Given the description of an element on the screen output the (x, y) to click on. 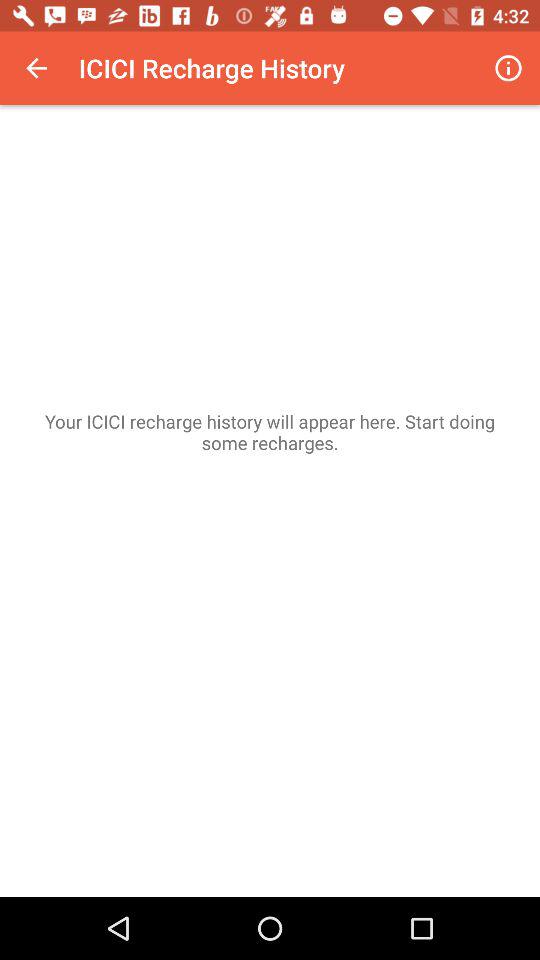
tap the item to the right of icici recharge history icon (508, 67)
